Given the description of an element on the screen output the (x, y) to click on. 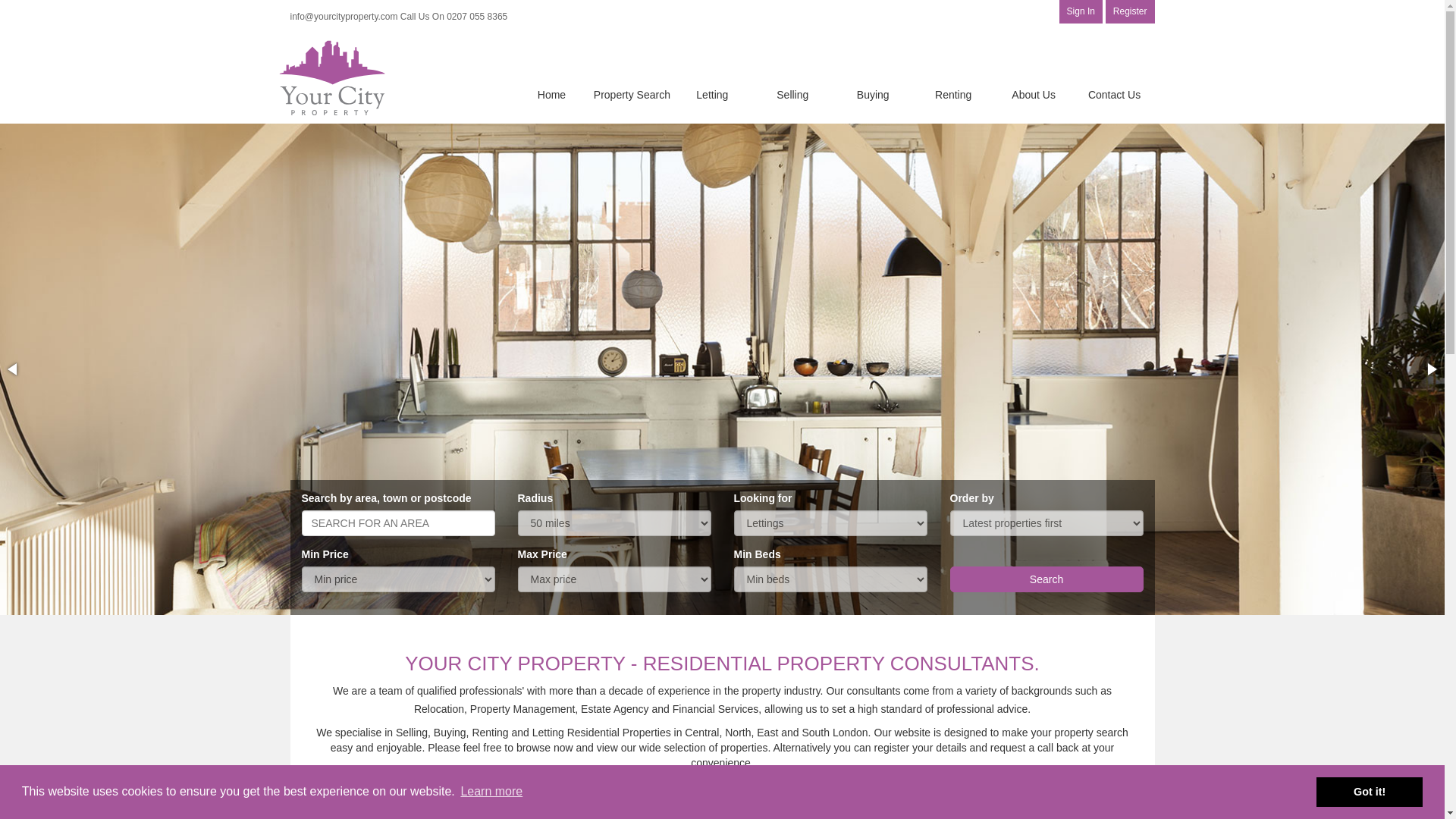
Property Search (632, 93)
Contact Us (1114, 93)
About Us (1034, 93)
Search (1045, 579)
Got it! (1369, 791)
Letting (712, 93)
Register (1129, 11)
Selling (792, 93)
Search (1045, 579)
Home (552, 93)
Buying (873, 93)
Sign In (1080, 11)
Renting (954, 93)
Learn more (491, 791)
